Given the description of an element on the screen output the (x, y) to click on. 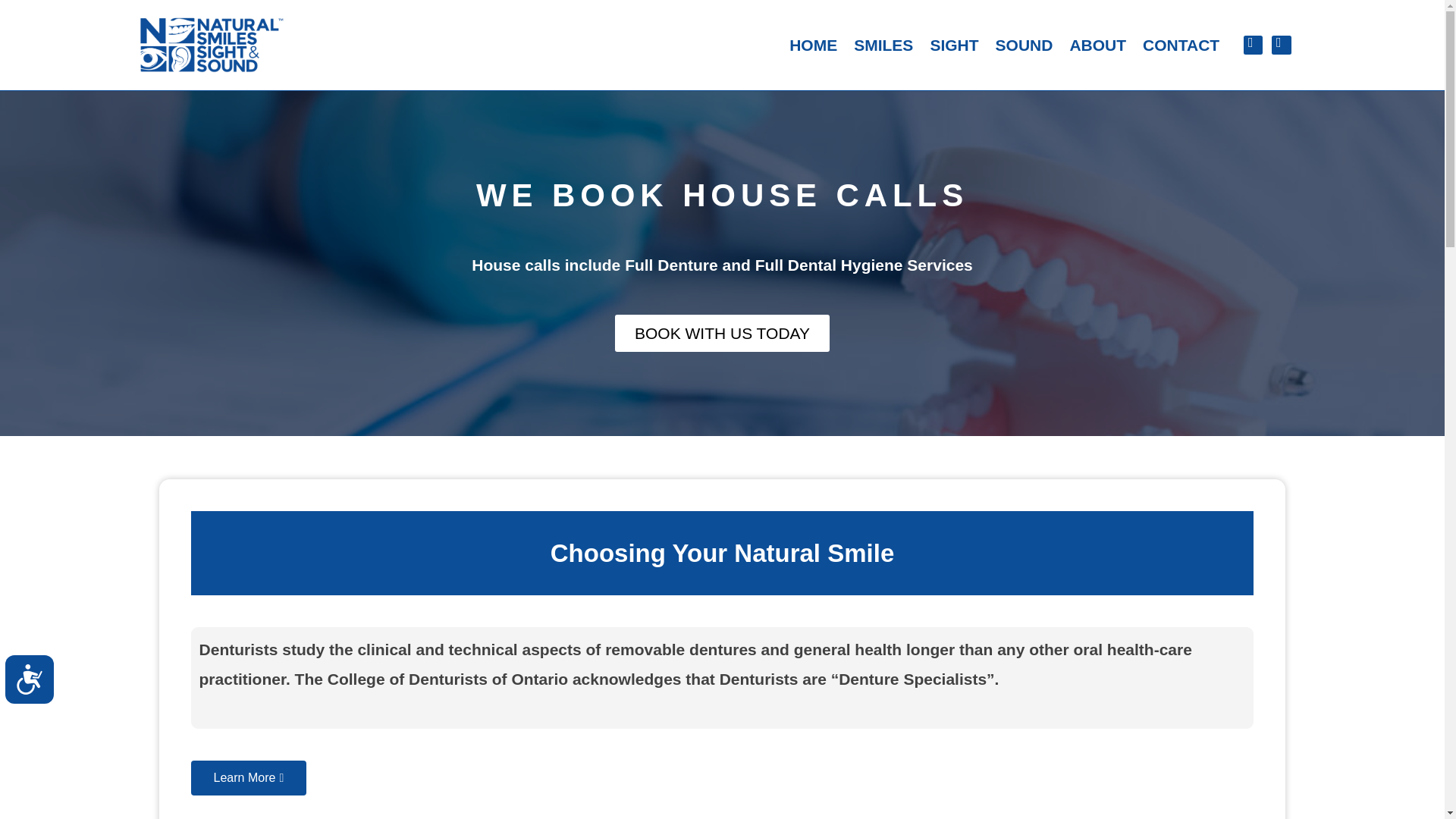
ABOUT (1097, 41)
SMILES (883, 38)
CONTACT (1180, 42)
HOME (812, 37)
BOOK WITH US TODAY (721, 333)
Learn More (248, 777)
SIGHT (954, 39)
Accessibility (35, 685)
SOUND (1024, 41)
